Given the description of an element on the screen output the (x, y) to click on. 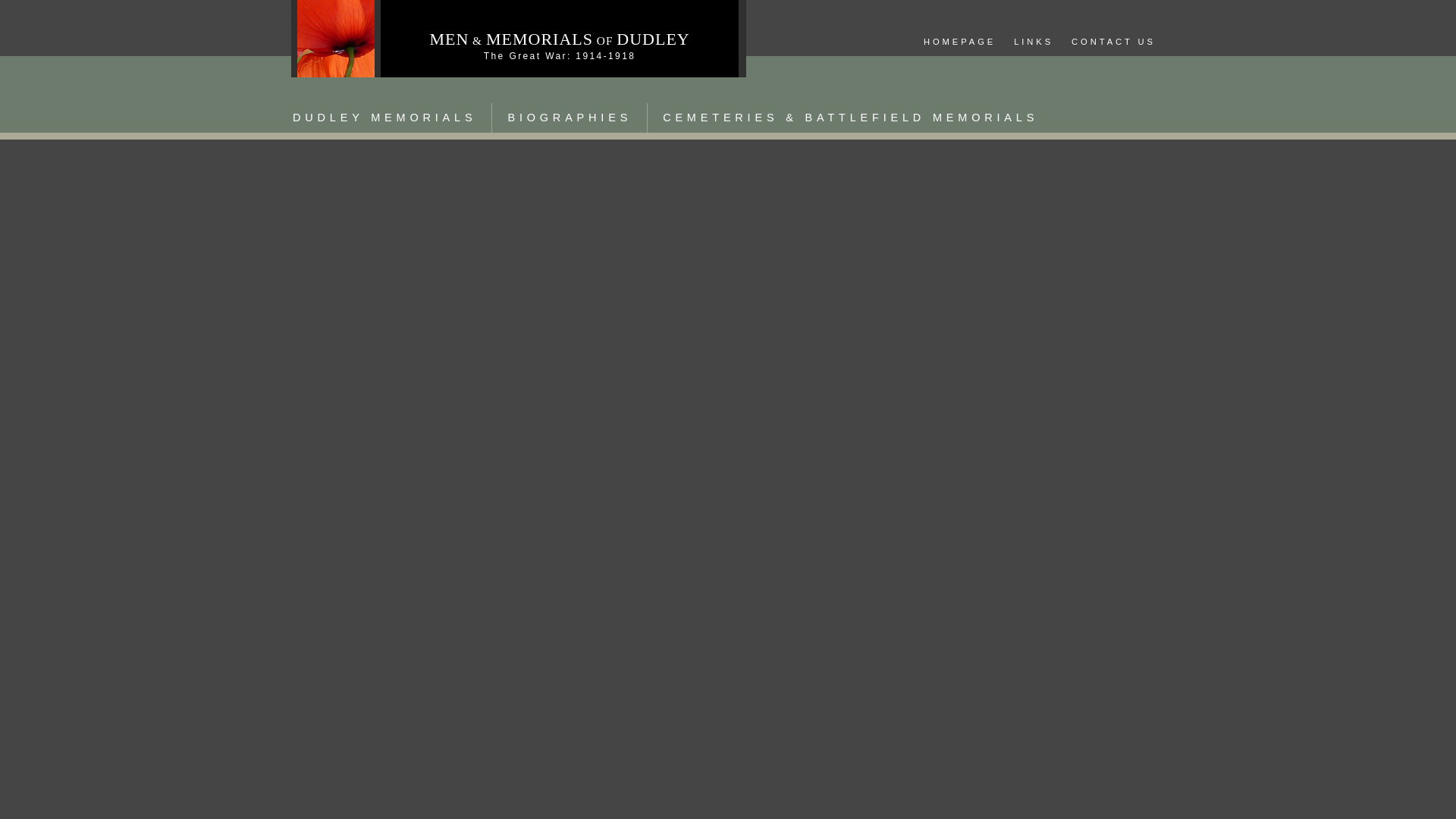
Links (1033, 42)
HOMEPAGE (959, 42)
Other Memorials (849, 117)
LINKS (1033, 42)
Biographies (569, 117)
Dudley Memorials (385, 117)
CONTACT US (1113, 42)
Contact Us (1113, 42)
Homepage (959, 42)
DUDLEY MEMORIALS (385, 117)
BIOGRAPHIES (569, 117)
